Given the description of an element on the screen output the (x, y) to click on. 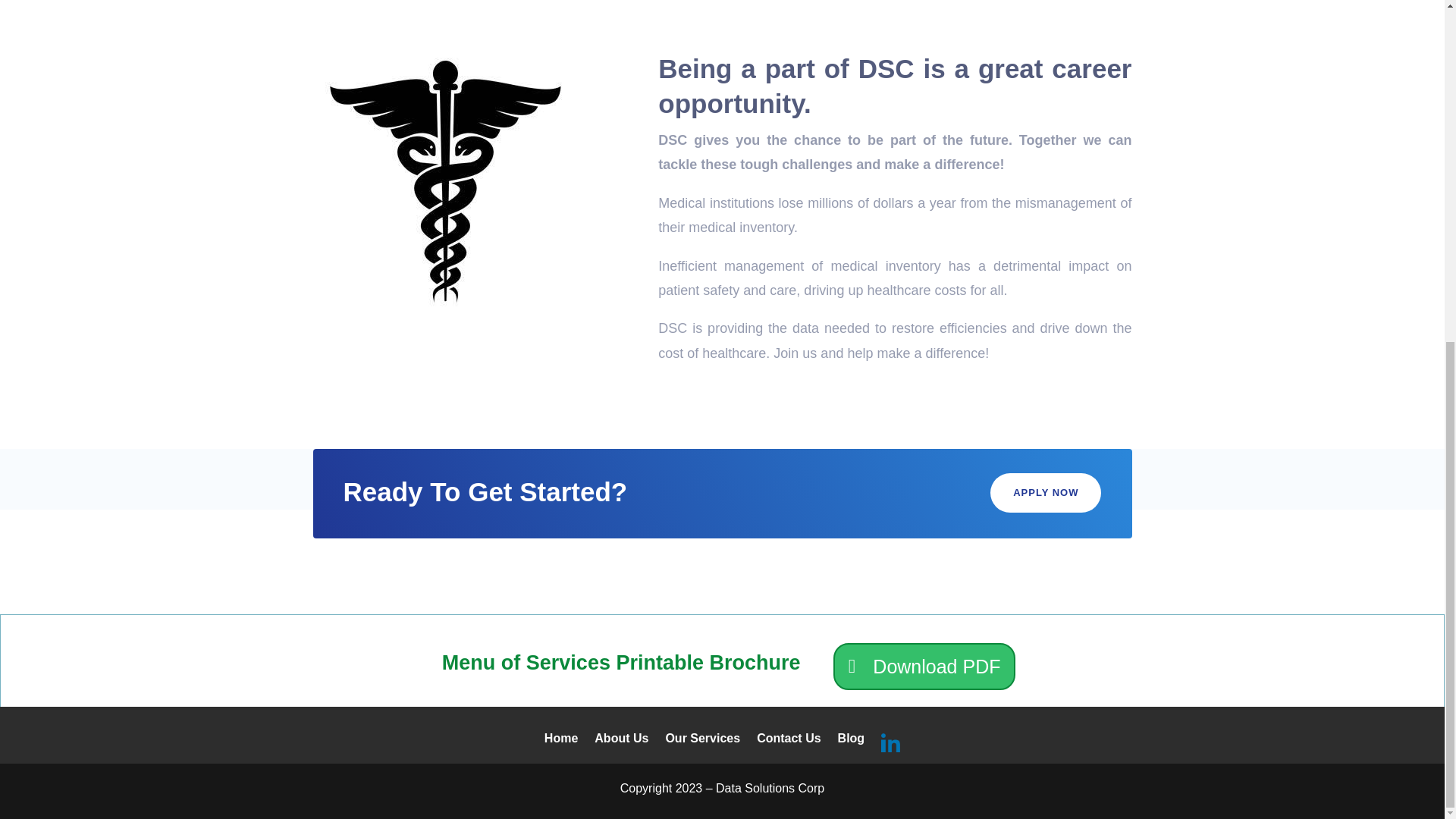
Medical Icon (445, 181)
